Given the description of an element on the screen output the (x, y) to click on. 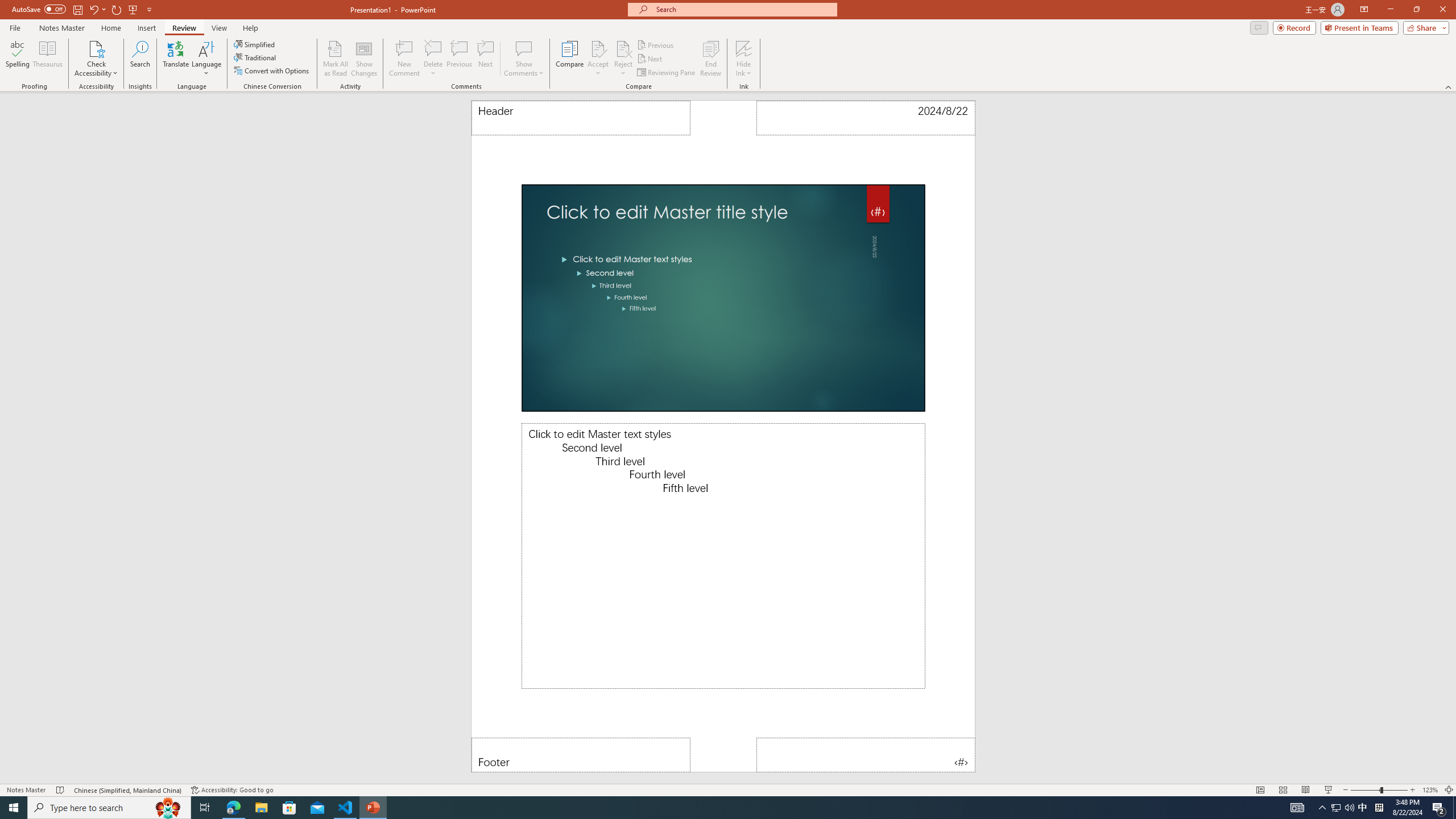
Translate (175, 58)
Accept Change (598, 48)
Show Changes (363, 58)
